Given the description of an element on the screen output the (x, y) to click on. 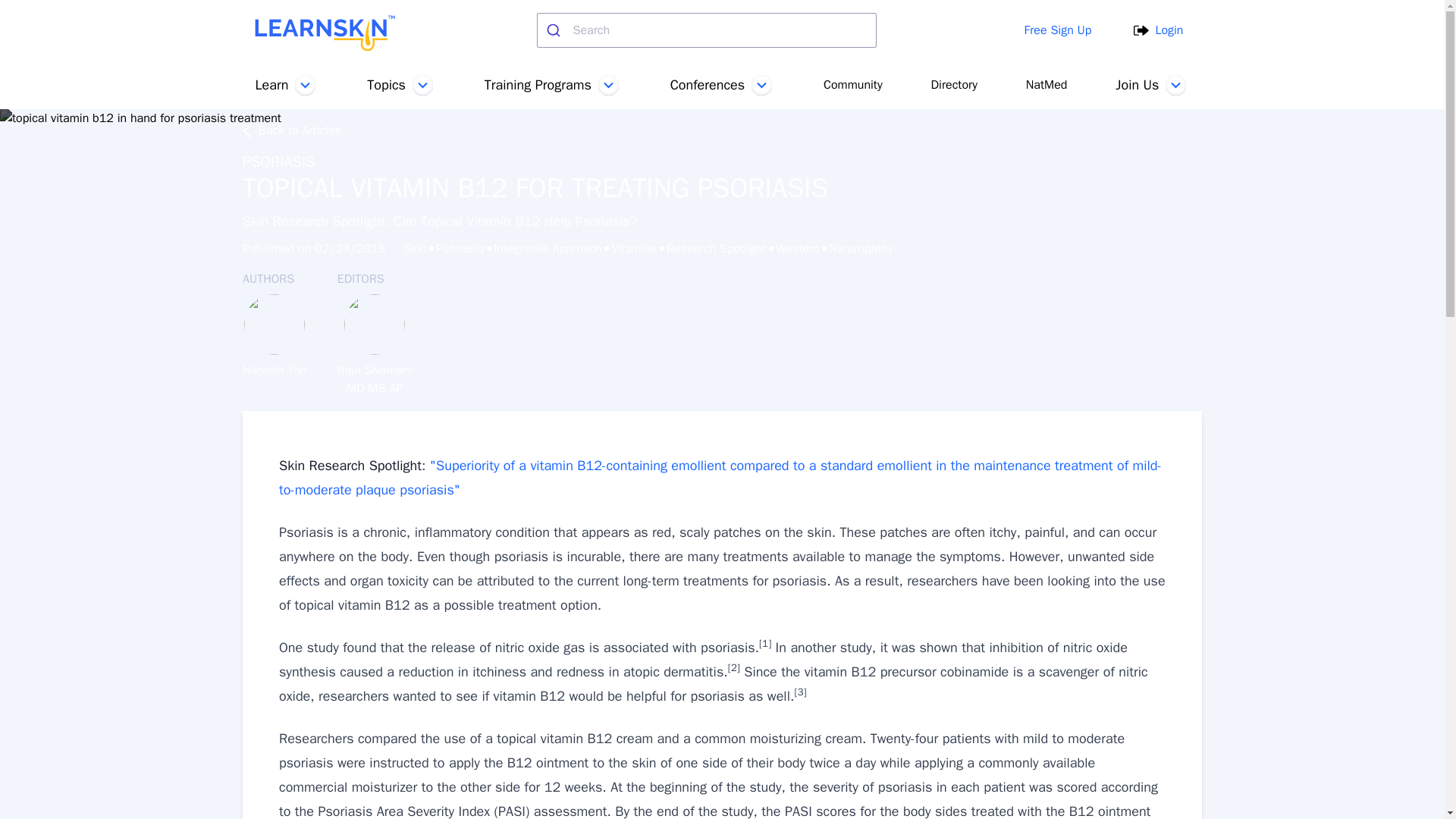
Free Sign Up (1058, 30)
Training Programs (552, 84)
Conferences (722, 84)
Login (1158, 30)
Topics (400, 84)
Submit (555, 29)
Learn (286, 84)
